Given the description of an element on the screen output the (x, y) to click on. 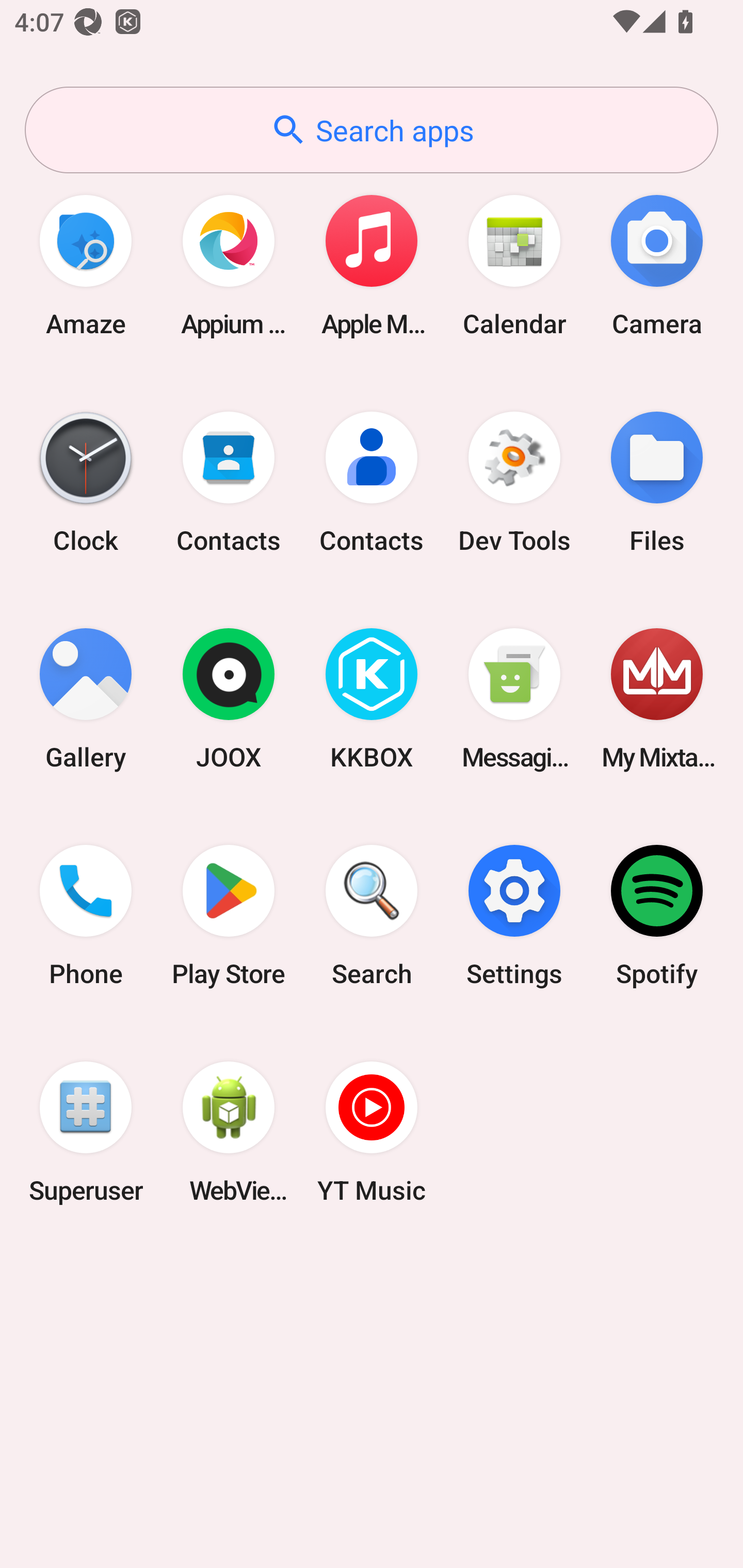
  Search apps (371, 130)
Amaze (85, 264)
Appium Settings (228, 264)
Apple Music (371, 264)
Calendar (514, 264)
Camera (656, 264)
Clock (85, 482)
Contacts (228, 482)
Contacts (371, 482)
Dev Tools (514, 482)
Files (656, 482)
Gallery (85, 699)
JOOX (228, 699)
KKBOX (371, 699)
Messaging (514, 699)
My Mixtapez (656, 699)
Phone (85, 915)
Play Store (228, 915)
Search (371, 915)
Settings (514, 915)
Spotify (656, 915)
Superuser (85, 1131)
WebView Browser Tester (228, 1131)
YT Music (371, 1131)
